Given the description of an element on the screen output the (x, y) to click on. 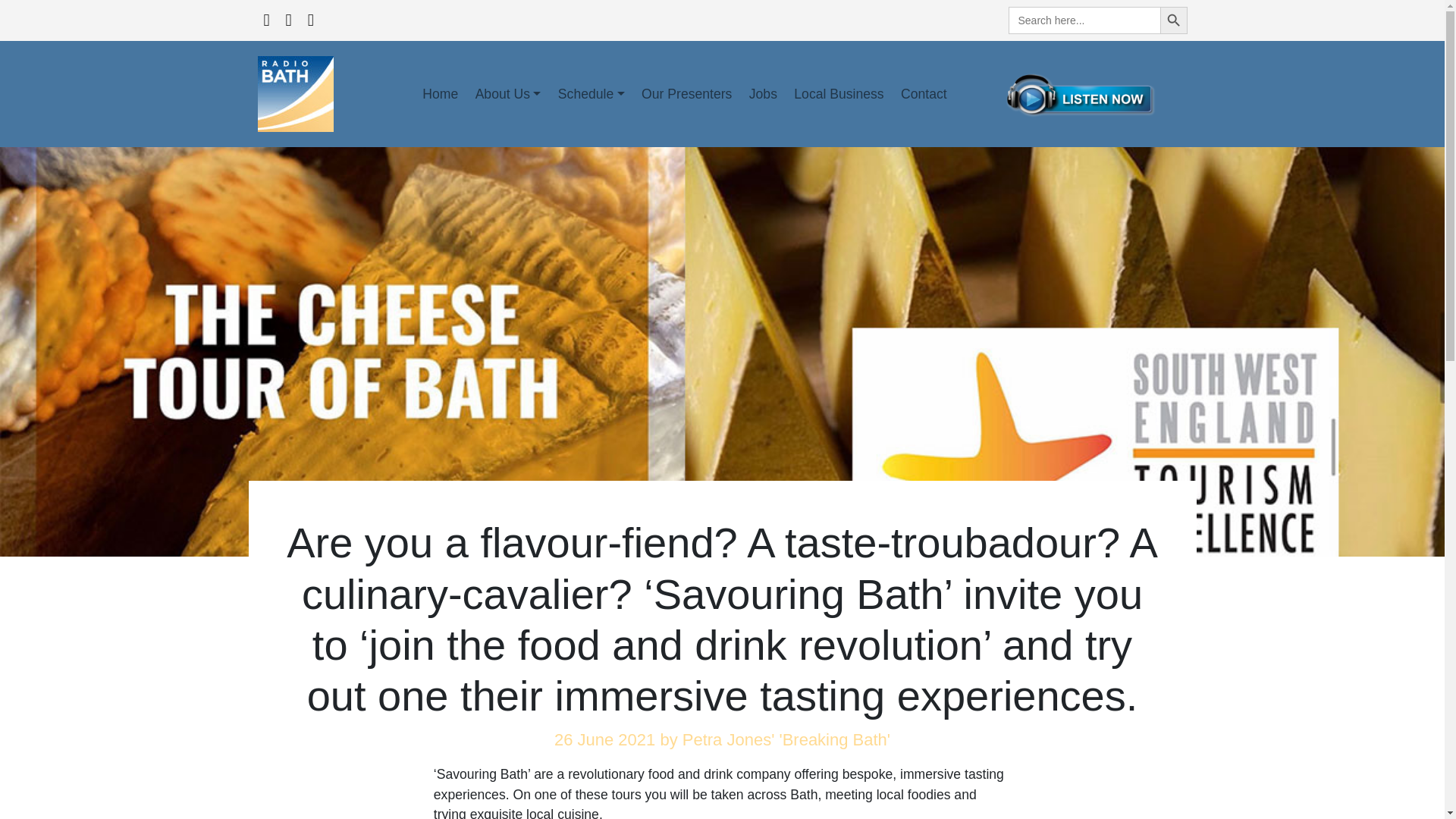
Contact (923, 93)
Schedule (591, 93)
Home (439, 93)
Our Presenters (687, 93)
Search Button (1174, 20)
Local Business (839, 93)
About Us (506, 93)
Jobs (763, 93)
